Given the description of an element on the screen output the (x, y) to click on. 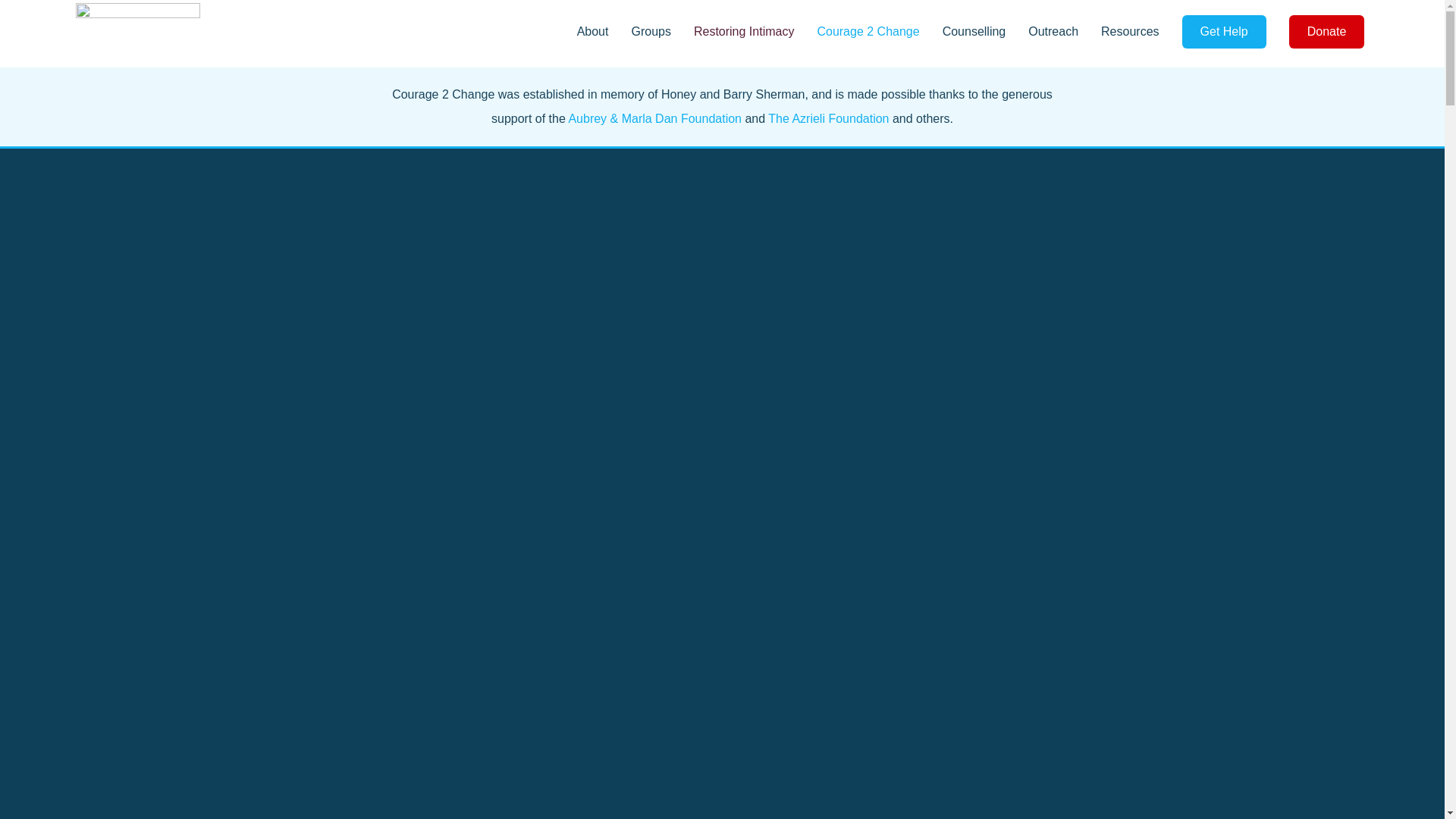
Groups (661, 31)
Counselling (985, 31)
The Azrieli Foundation (828, 118)
Donate (1326, 31)
Outreach (1063, 31)
Restoring Intimacy (755, 31)
Courage 2 Change (879, 31)
Resources (1140, 31)
Get Help (1224, 31)
Submit (966, 680)
